Given the description of an element on the screen output the (x, y) to click on. 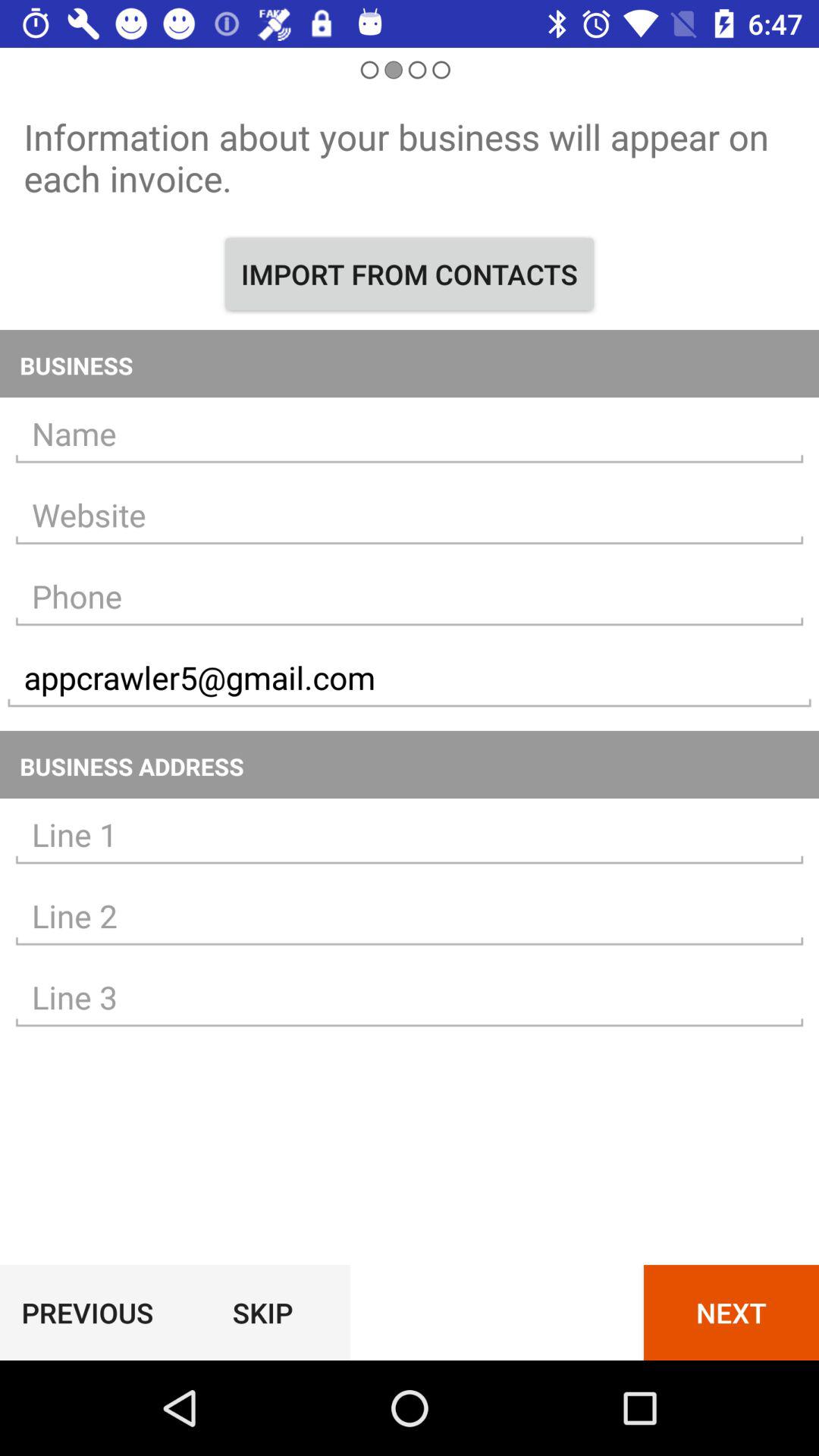
line 1 (409, 834)
